Given the description of an element on the screen output the (x, y) to click on. 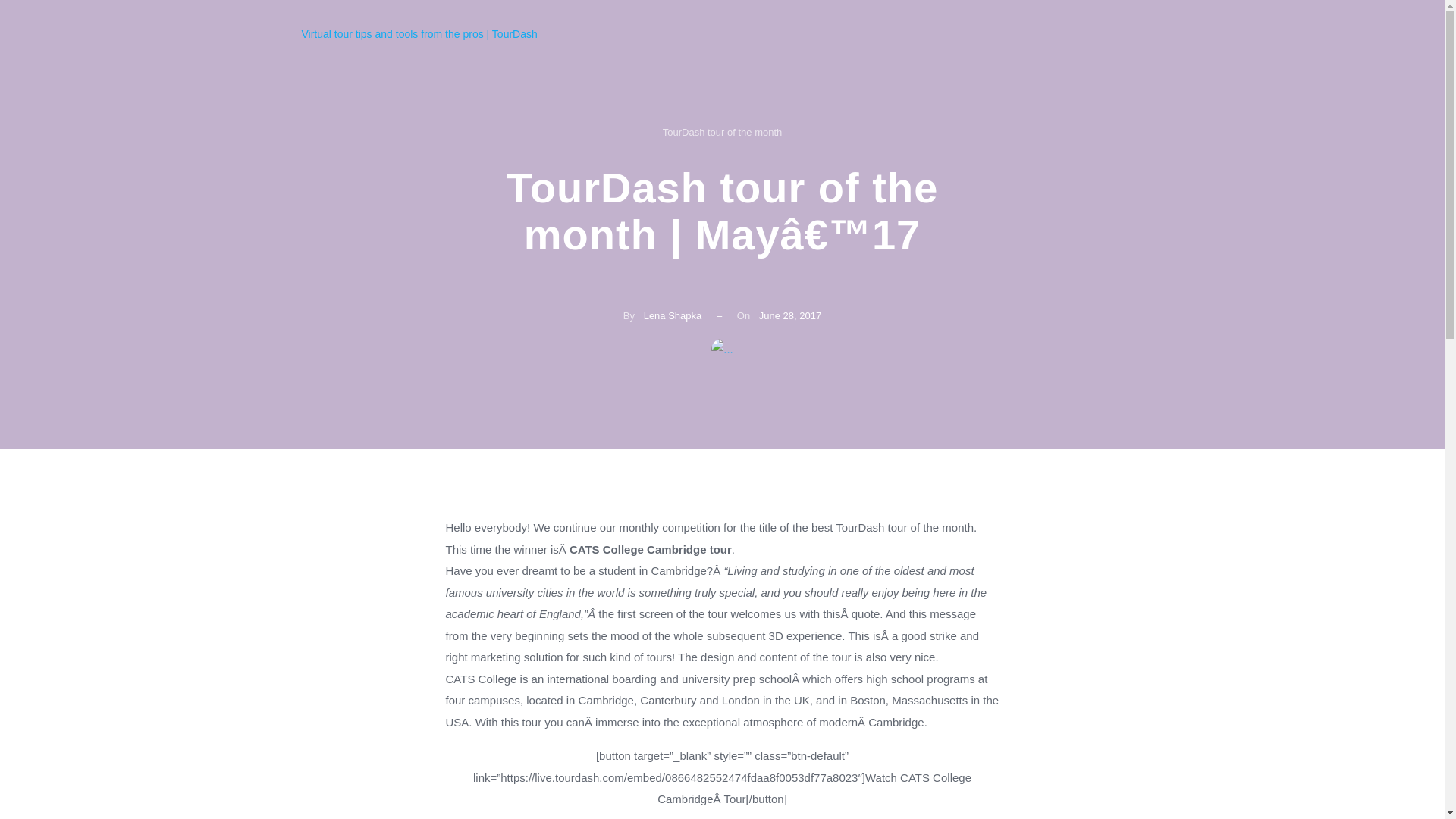
June 28, 2017 (789, 315)
TourDash tour of the month (722, 131)
Lena Shapka (672, 315)
